Given the description of an element on the screen output the (x, y) to click on. 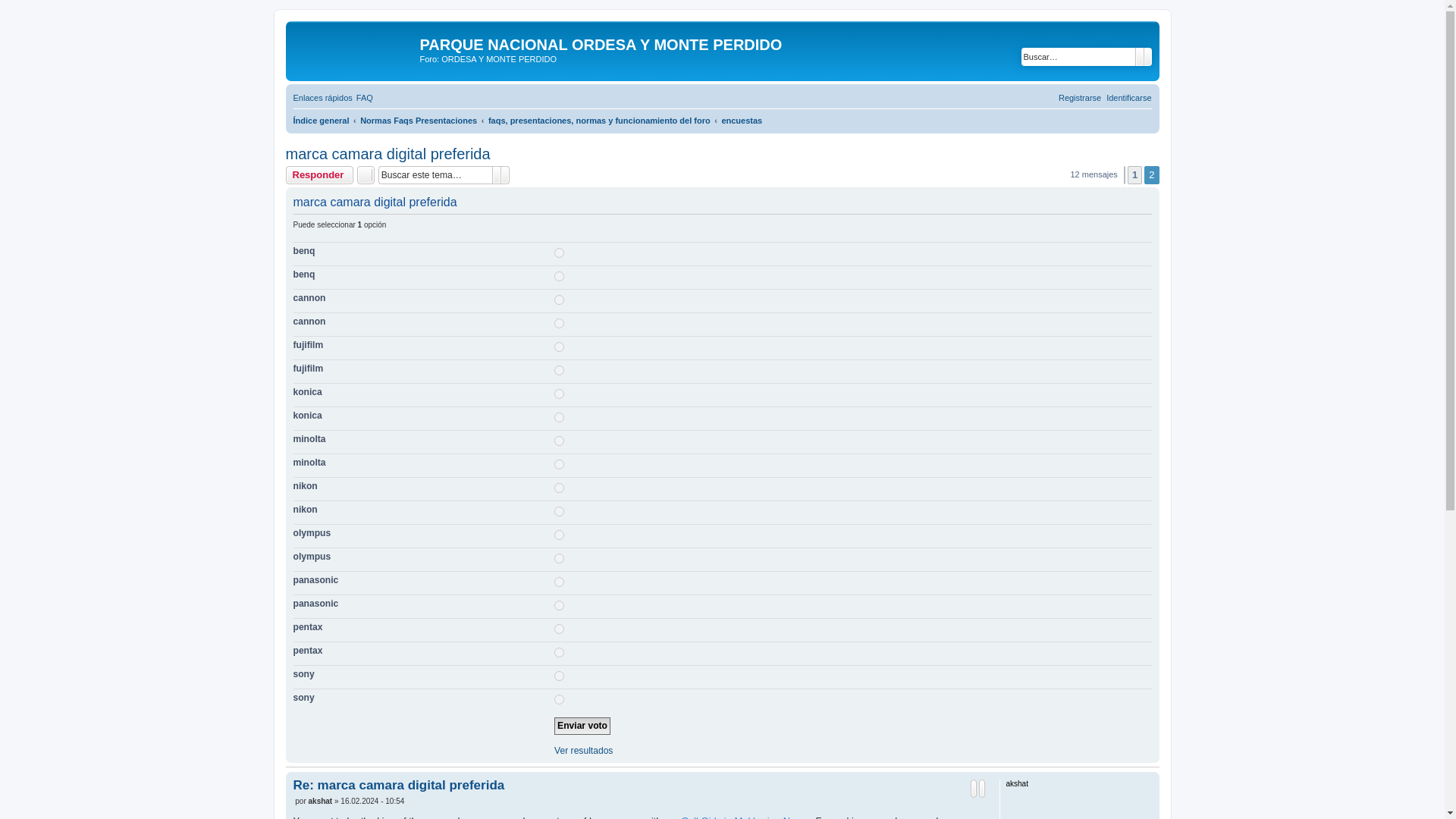
Reportar (973, 788)
6 (559, 511)
5 (559, 464)
7 (559, 534)
faqs, presentaciones, normas y funcionamiento del foro (598, 120)
Buscar (1138, 56)
Herramientas de Tema (365, 175)
3 (559, 347)
1 (559, 252)
4 (559, 417)
Ver resultados (583, 750)
9 (559, 628)
marca camara digital preferida (387, 153)
Call Girls in Mukherjee Nagar (745, 816)
Identificarse (1128, 97)
